Given the description of an element on the screen output the (x, y) to click on. 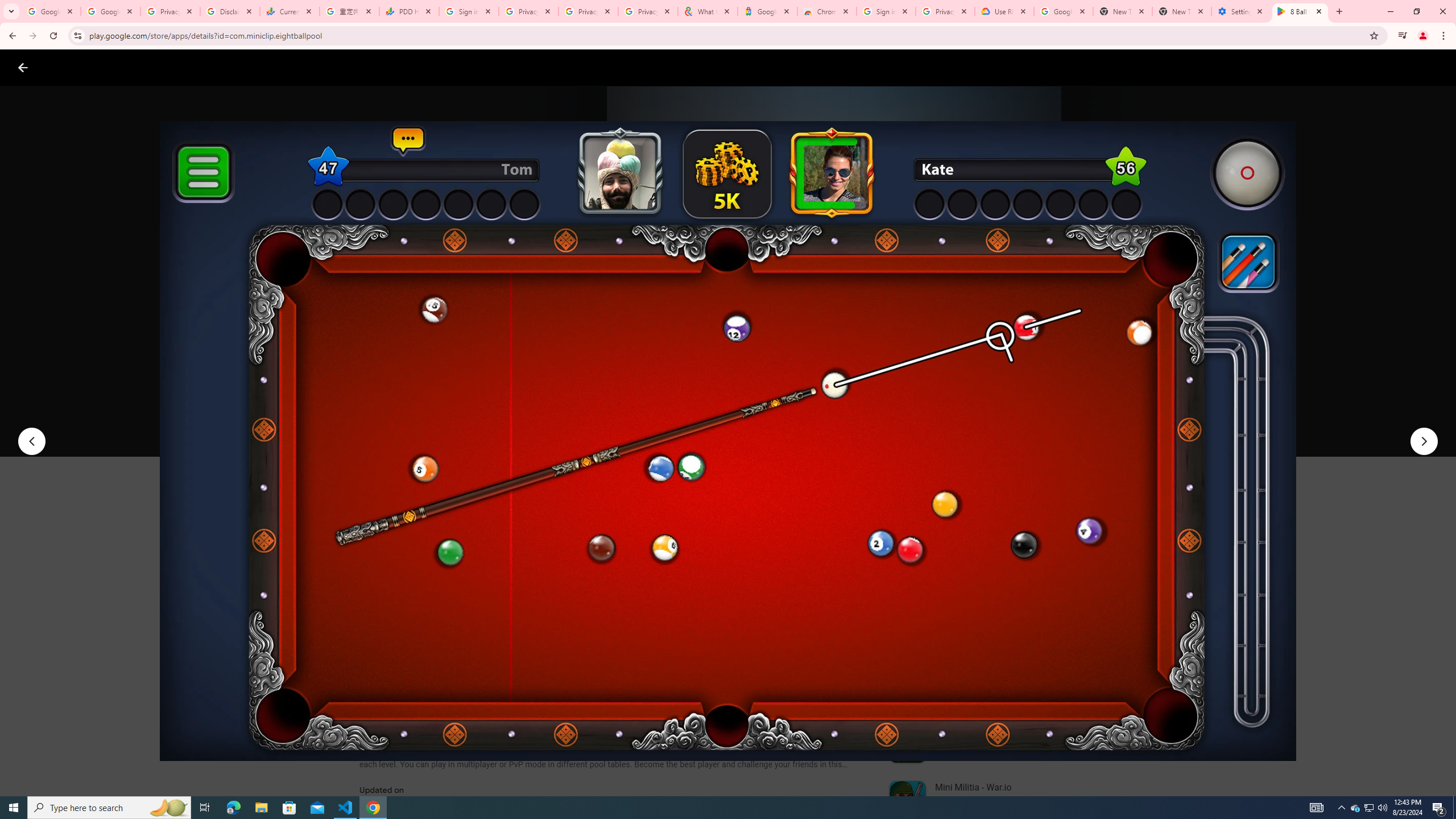
Kids (219, 67)
Privacy Checkup (588, 11)
Install (416, 423)
New Tab (1182, 11)
Scroll Next (848, 563)
